Given the description of an element on the screen output the (x, y) to click on. 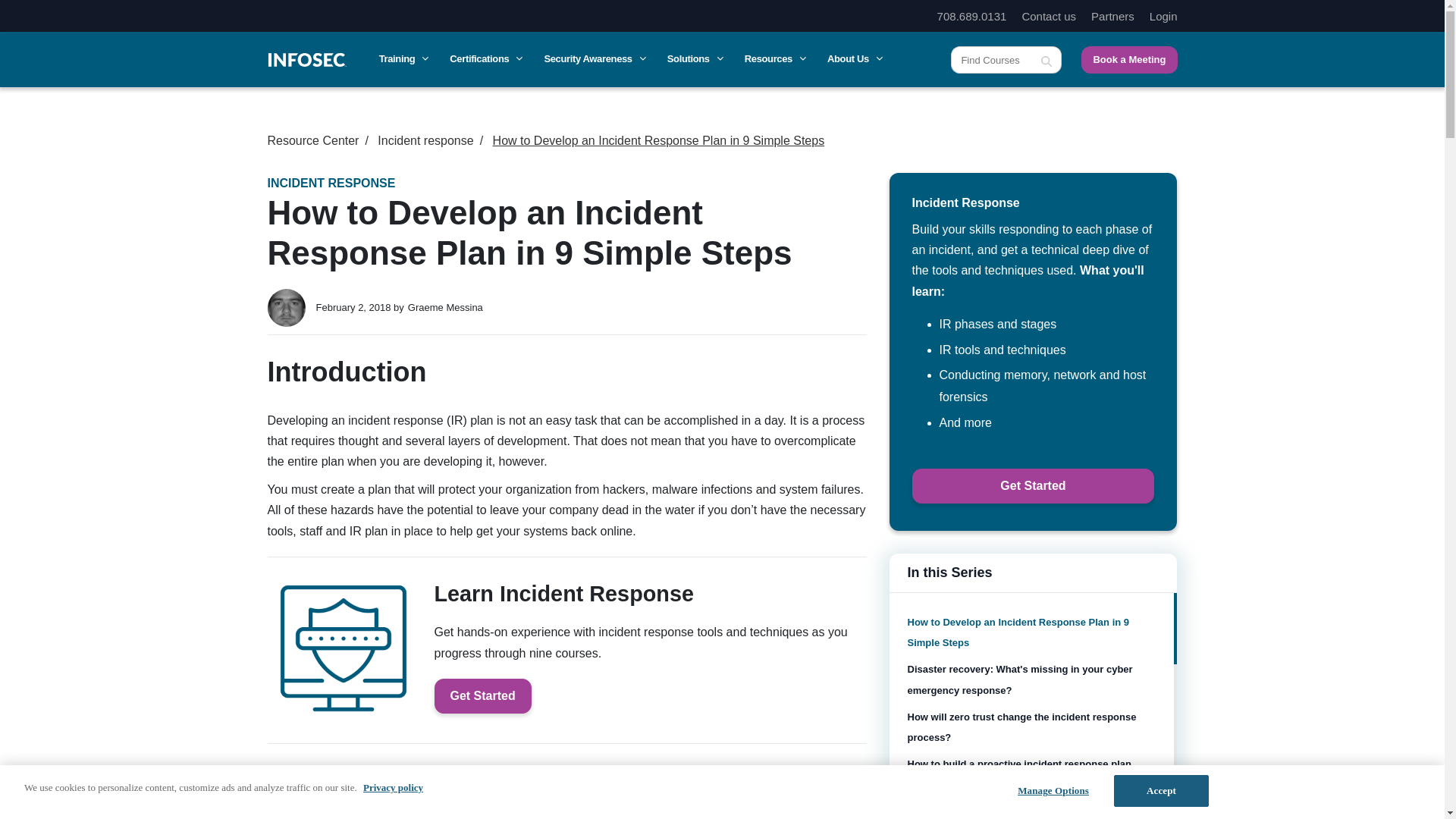
In this Series (1032, 572)
708.689.0131 (972, 15)
Login (1163, 15)
Contact us (1048, 15)
Training (402, 59)
Login (1163, 15)
Book a Meeting (1128, 59)
Infosec logo (306, 59)
Partners (1112, 15)
708.689.0131 (972, 15)
Contact us (1048, 15)
Certifications (484, 59)
Get Started (482, 695)
Get Started (1032, 485)
Partners (1112, 15)
